Given the description of an element on the screen output the (x, y) to click on. 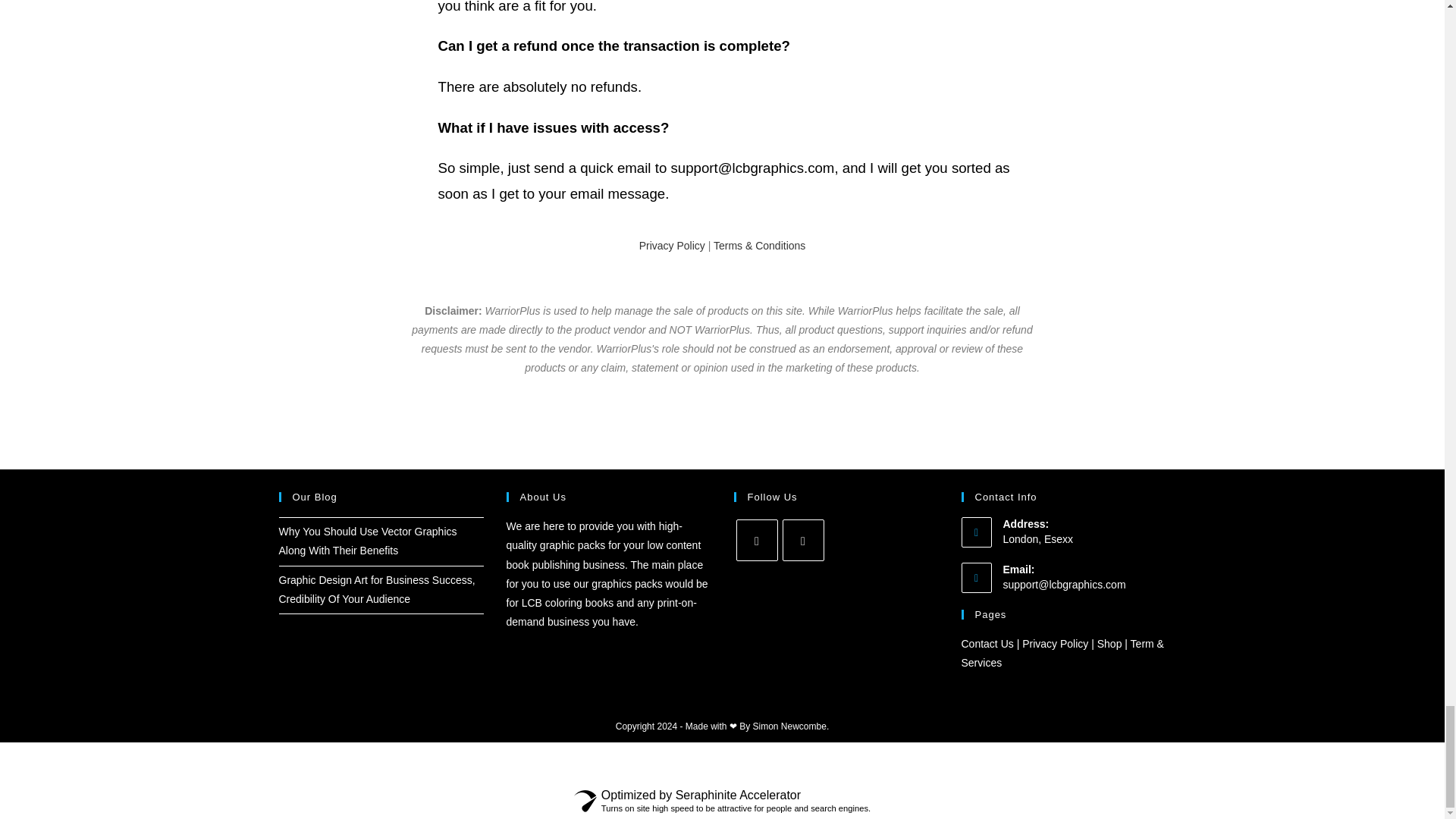
Privacy Policy (671, 245)
Contact Us (986, 644)
Privacy Policy (1054, 644)
Why You Should Use Vector Graphics Along With Their Benefits (368, 540)
